Given the description of an element on the screen output the (x, y) to click on. 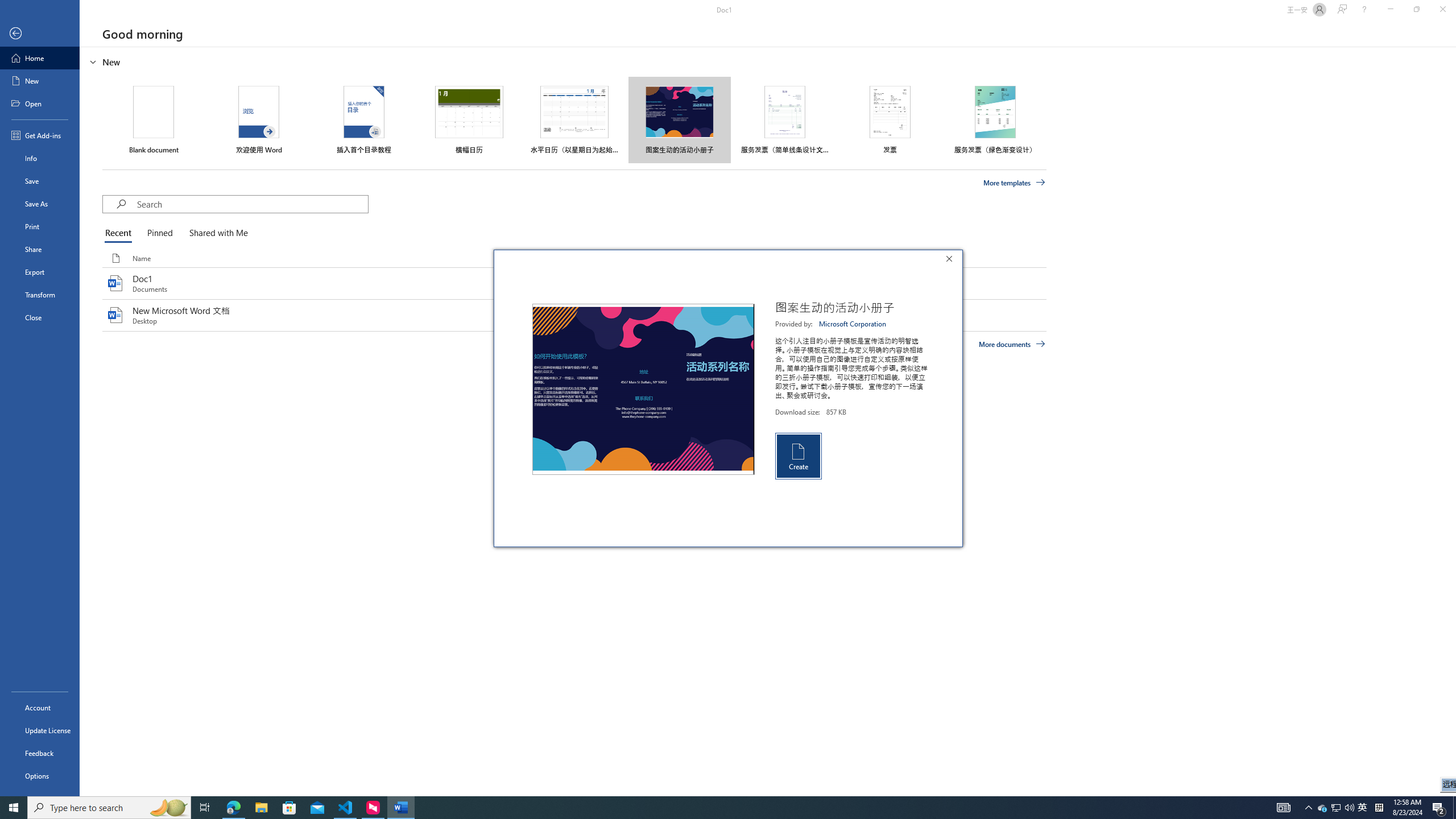
Notification Chevron (1308, 807)
Transform (40, 294)
Task View (204, 807)
Feedback (40, 753)
Create (797, 455)
Info (40, 157)
Action Center, 2 new notifications (1439, 807)
Get Add-ins (40, 134)
Save As (40, 203)
More templates (1014, 182)
Update License (40, 730)
